Given the description of an element on the screen output the (x, y) to click on. 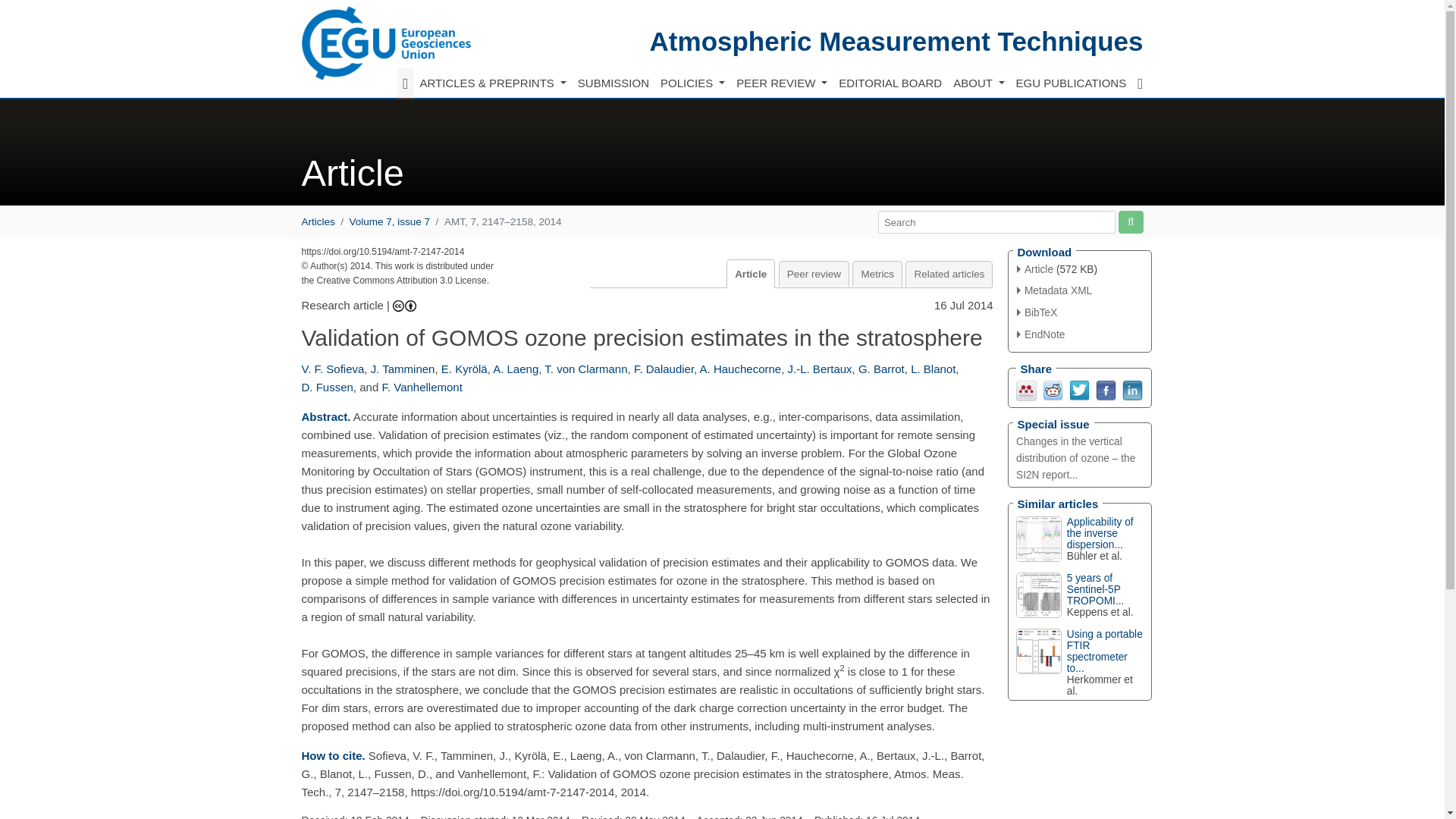
SUBMISSION (612, 83)
Mendeley (1026, 389)
POLICIES (691, 83)
ABOUT (978, 83)
Reddit (1052, 389)
XML Version (1054, 290)
Atmospheric Measurement Techniques (895, 41)
Twitter (1078, 389)
PEER REVIEW (781, 83)
EDITORIAL BOARD (889, 83)
